Given the description of an element on the screen output the (x, y) to click on. 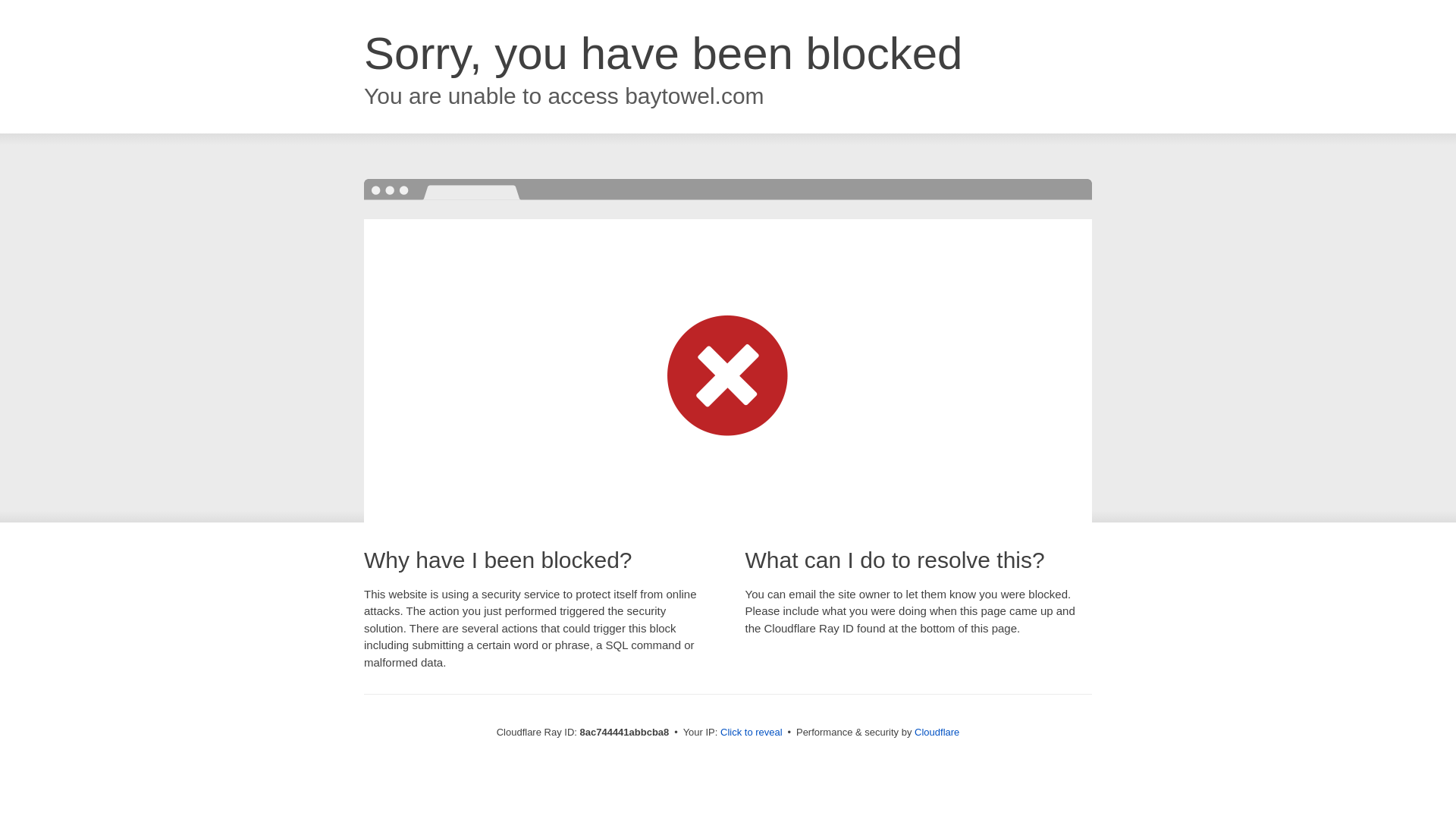
Cloudflare (936, 731)
Click to reveal (751, 732)
